Given the description of an element on the screen output the (x, y) to click on. 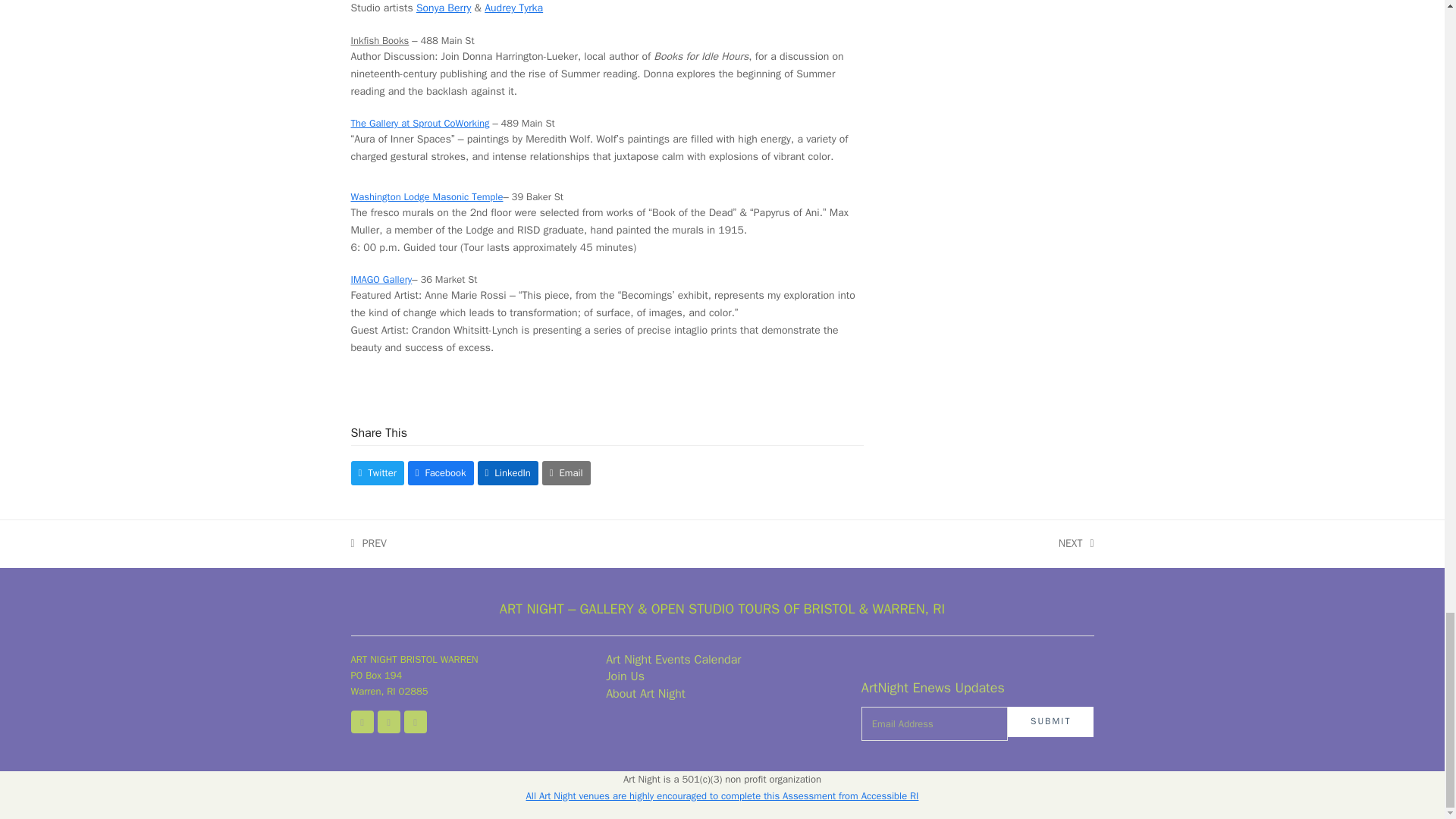
YouTube (414, 721)
Instagram (388, 721)
Facebook (361, 721)
